Given the description of an element on the screen output the (x, y) to click on. 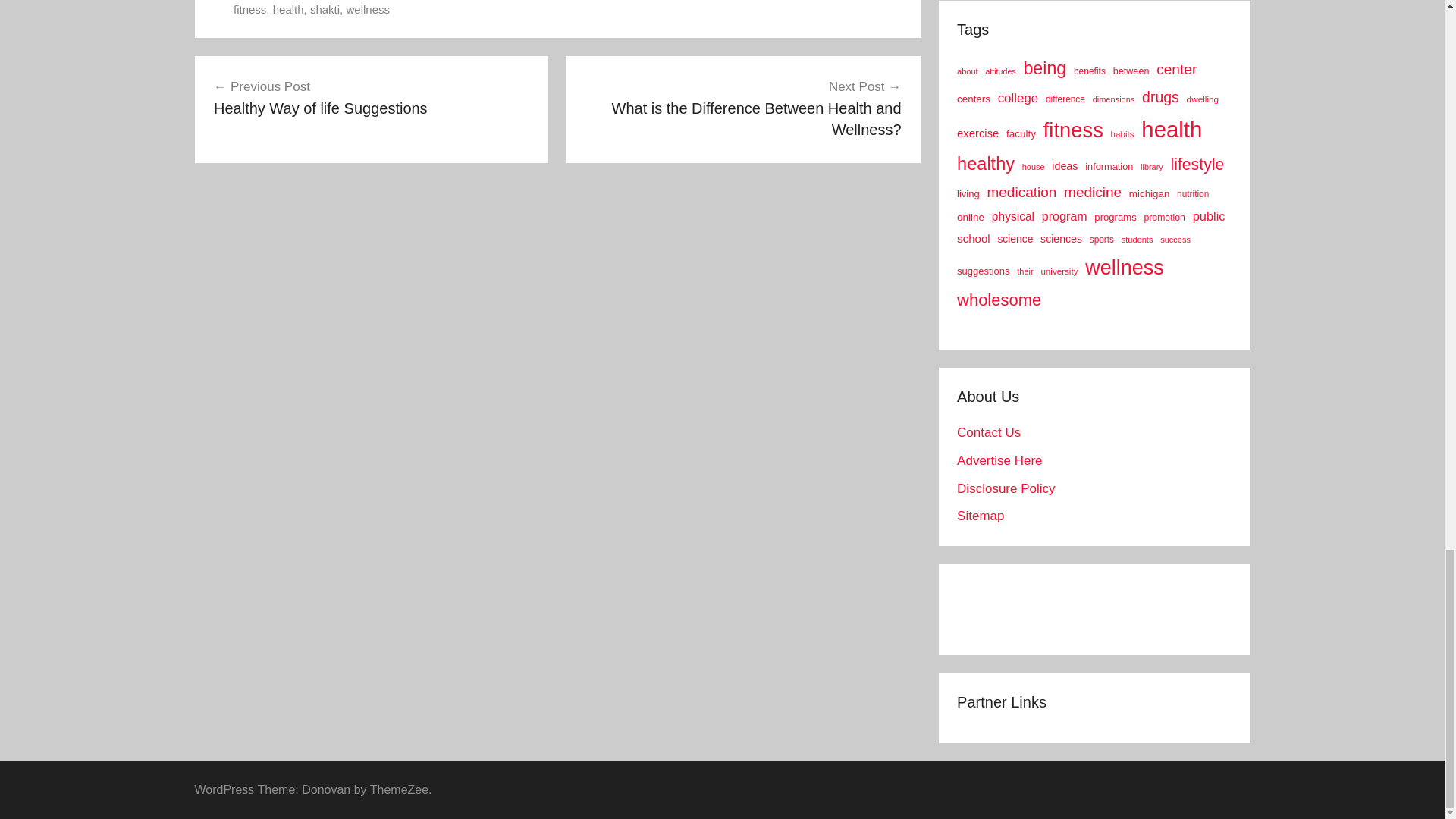
fitness (249, 9)
